Given the description of an element on the screen output the (x, y) to click on. 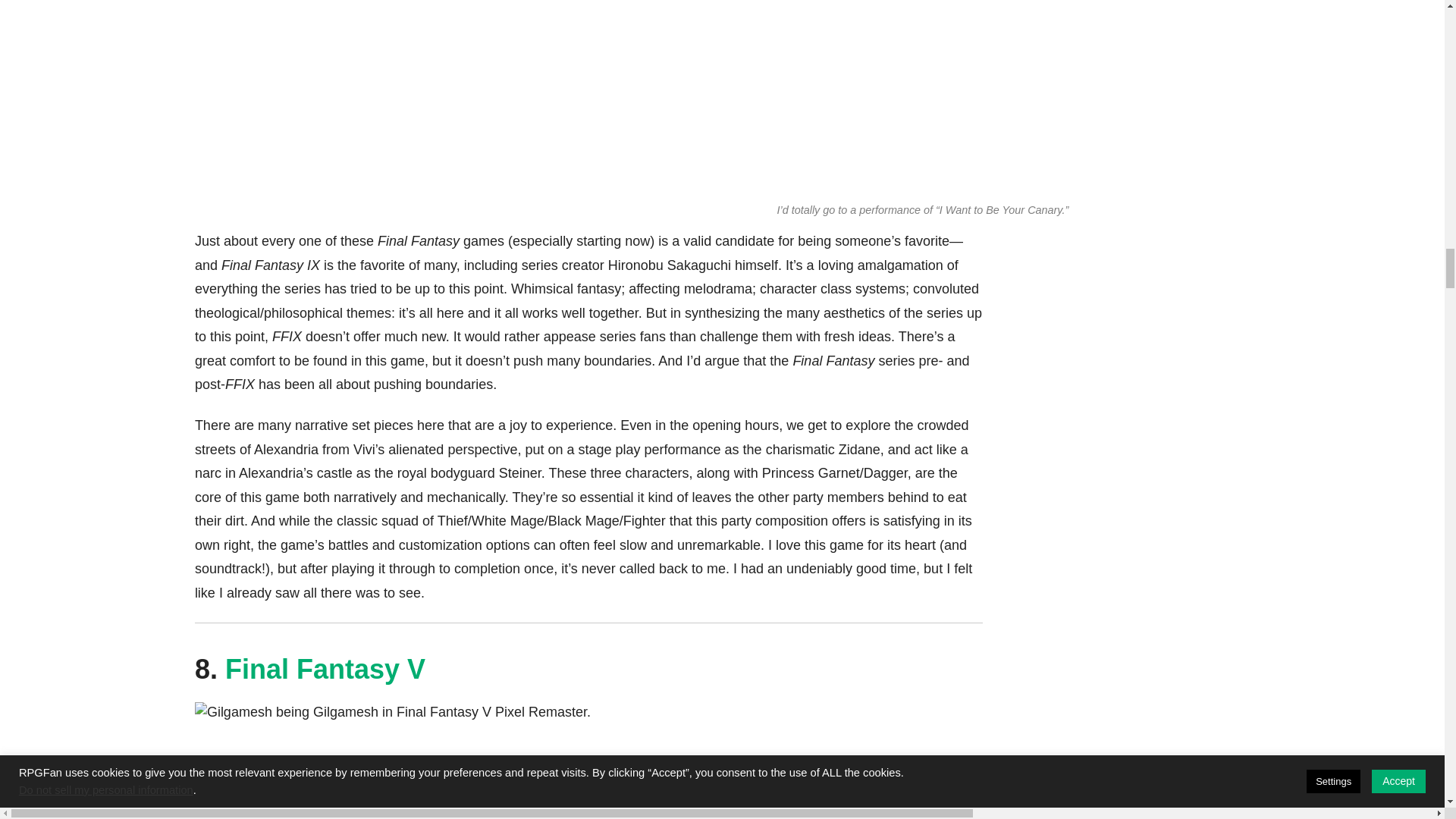
Final Fantasy V (325, 668)
